Given the description of an element on the screen output the (x, y) to click on. 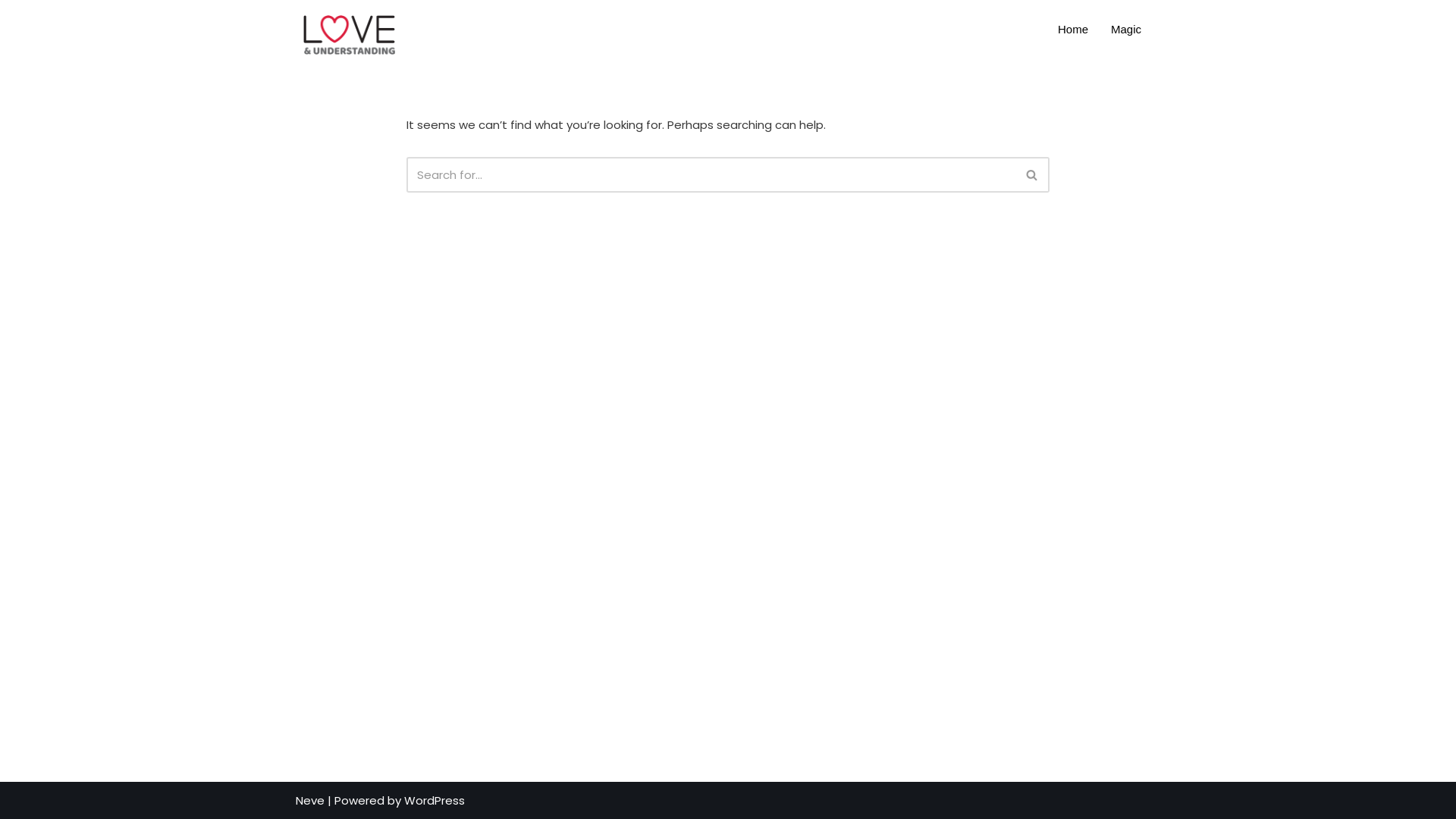
Home Element type: text (1072, 29)
Skip to content Element type: text (11, 31)
Neve Element type: text (309, 799)
WordPress Element type: text (434, 799)
Magic Element type: text (1125, 29)
